Given the description of an element on the screen output the (x, y) to click on. 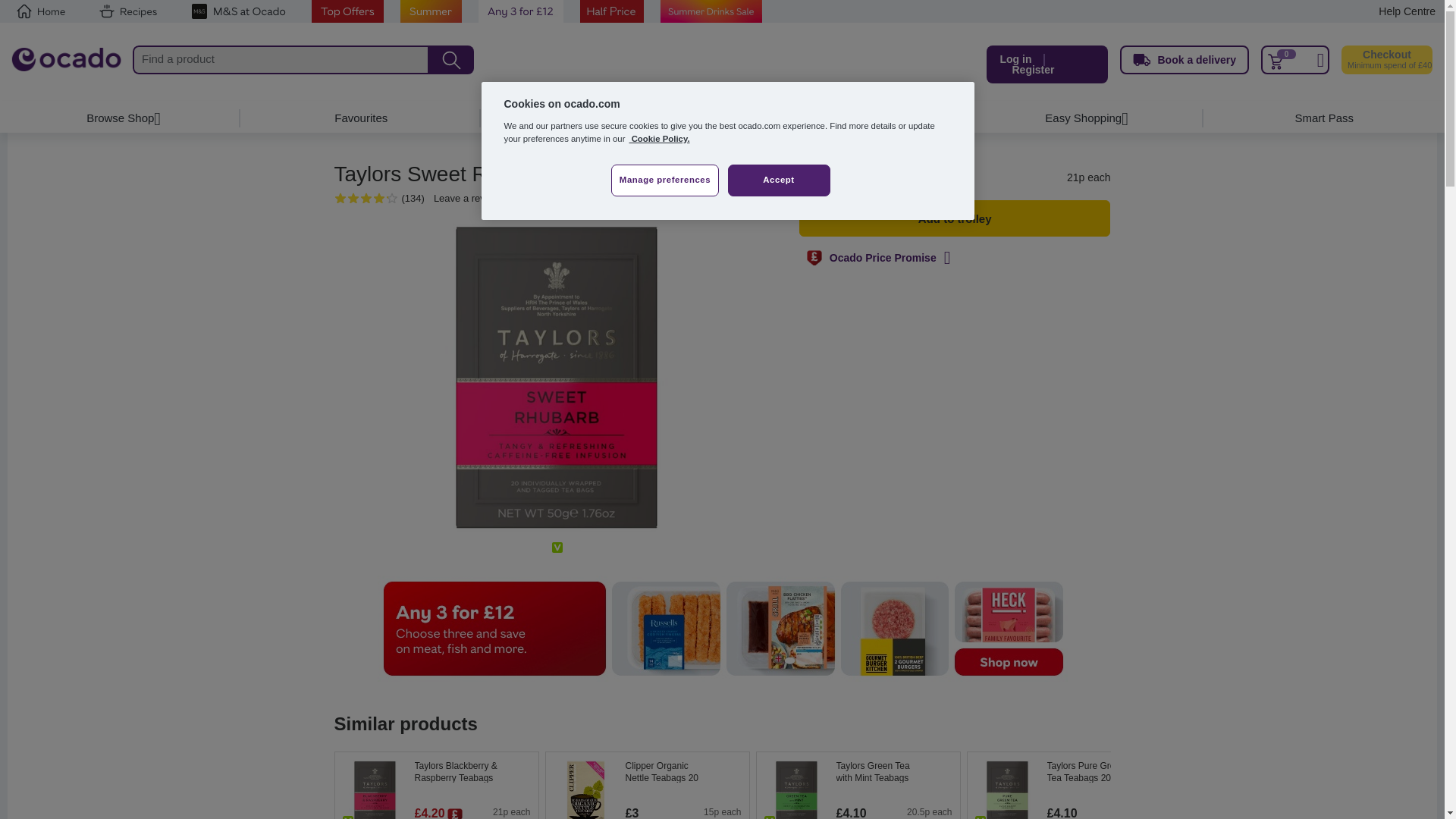
Offers (601, 118)
Favourites (361, 118)
Recipes (127, 11)
Easy Shopping (1083, 118)
Summer Drinks Sale (711, 11)
Help Centre (1406, 10)
Reviews 4.2 of 5 (360, 198)
0 (1294, 59)
Browse Shop (120, 118)
Home (41, 11)
Inspire Me (842, 118)
Suitable for vegetarians (980, 817)
Suitable for vegetarians (347, 817)
Clipper Organic Nettle Teabags (682, 771)
Register (1032, 69)
